Given the description of an element on the screen output the (x, y) to click on. 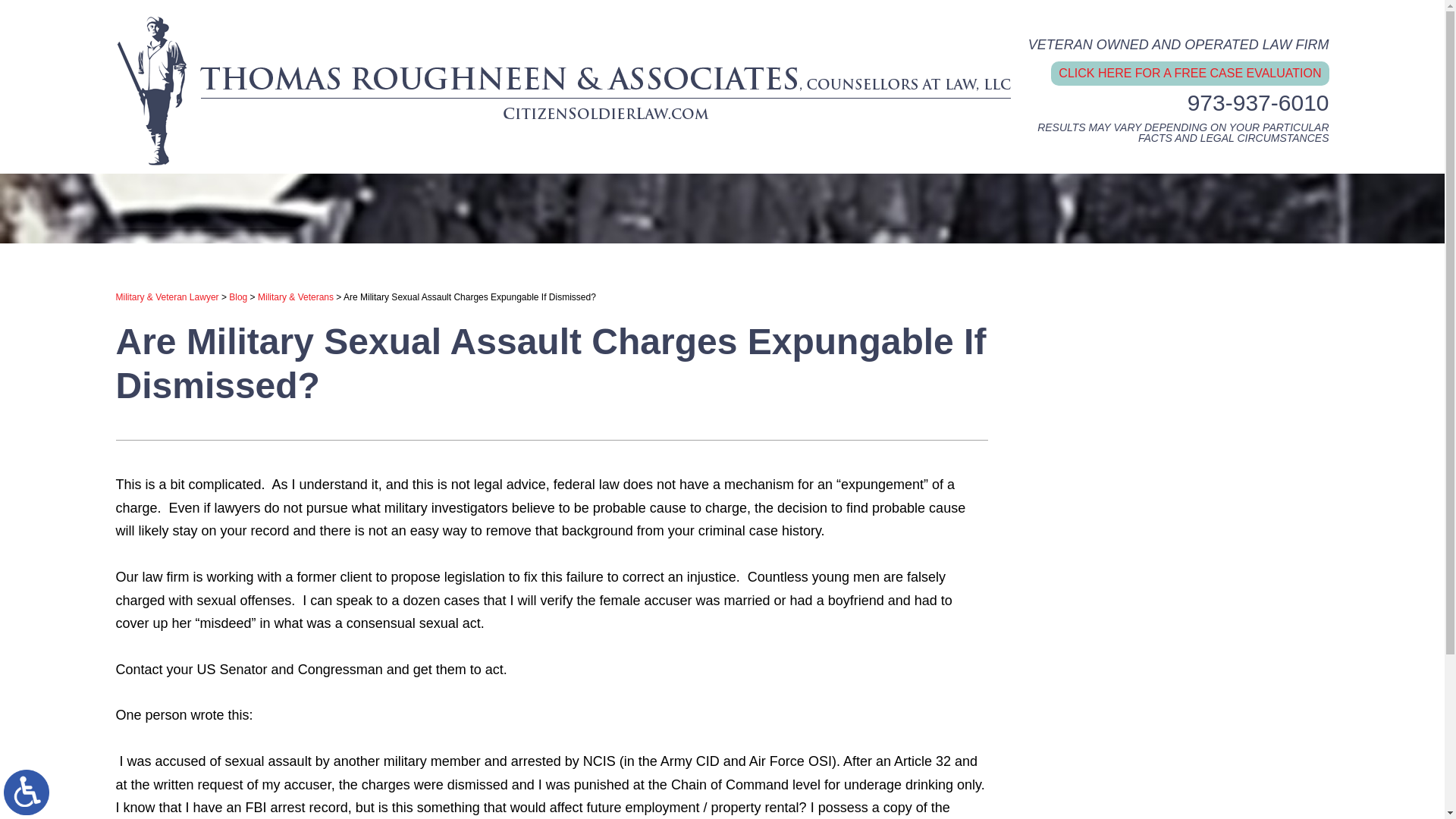
Switch to ADA Accessible Theme (26, 791)
CALL (641, 12)
HOME (605, 12)
CLICK HERE FOR A FREE CASE EVALUATION (1189, 73)
MENU (814, 12)
973-937-6010 (1258, 102)
SEARCH (753, 12)
EMAIL (682, 12)
VISIT (719, 12)
